Given the description of an element on the screen output the (x, y) to click on. 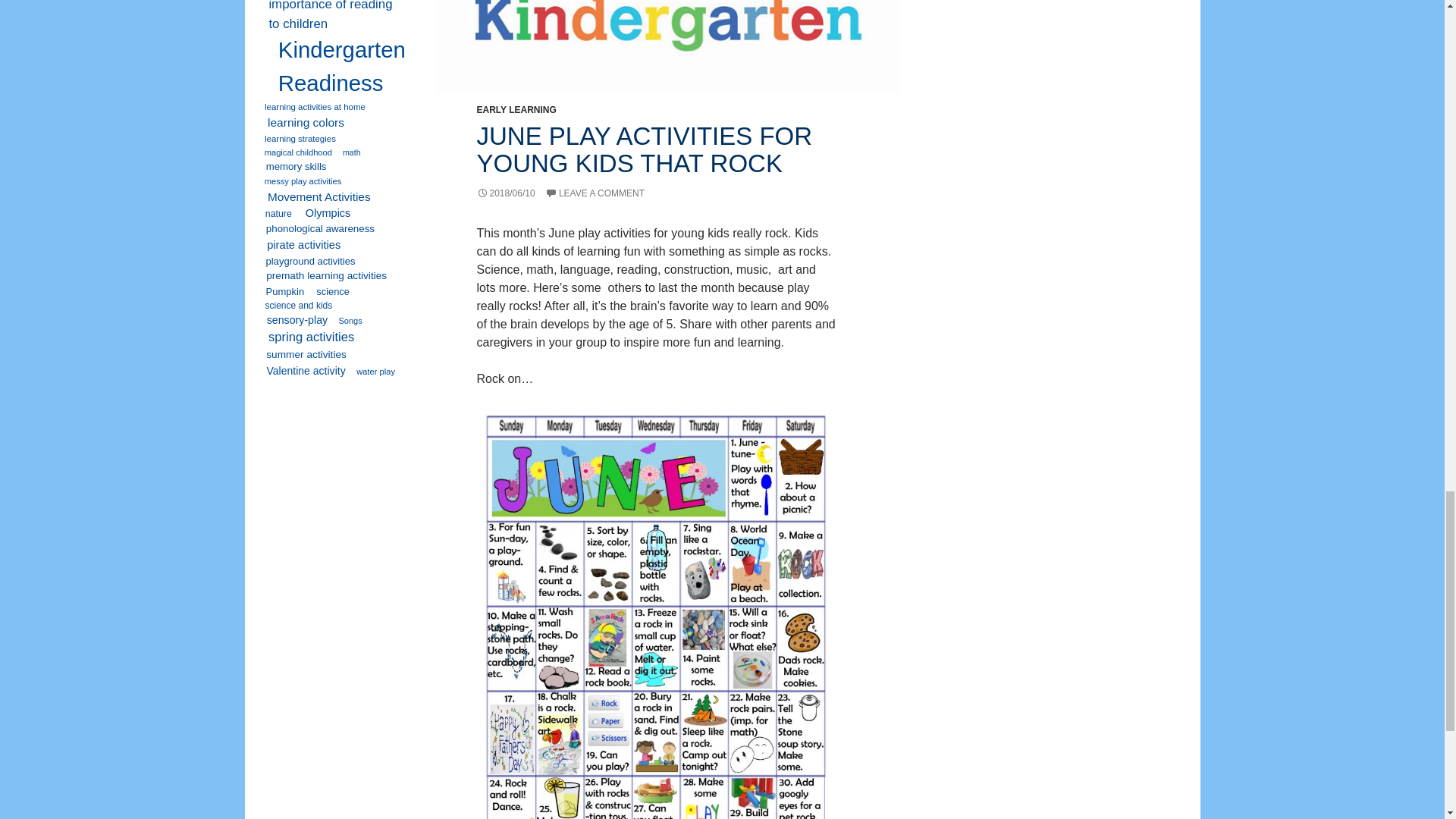
LEAVE A COMMENT (594, 193)
JUNE PLAY ACTIVITIES FOR YOUNG KIDS THAT ROCK (644, 149)
EARLY LEARNING (516, 109)
